Given the description of an element on the screen output the (x, y) to click on. 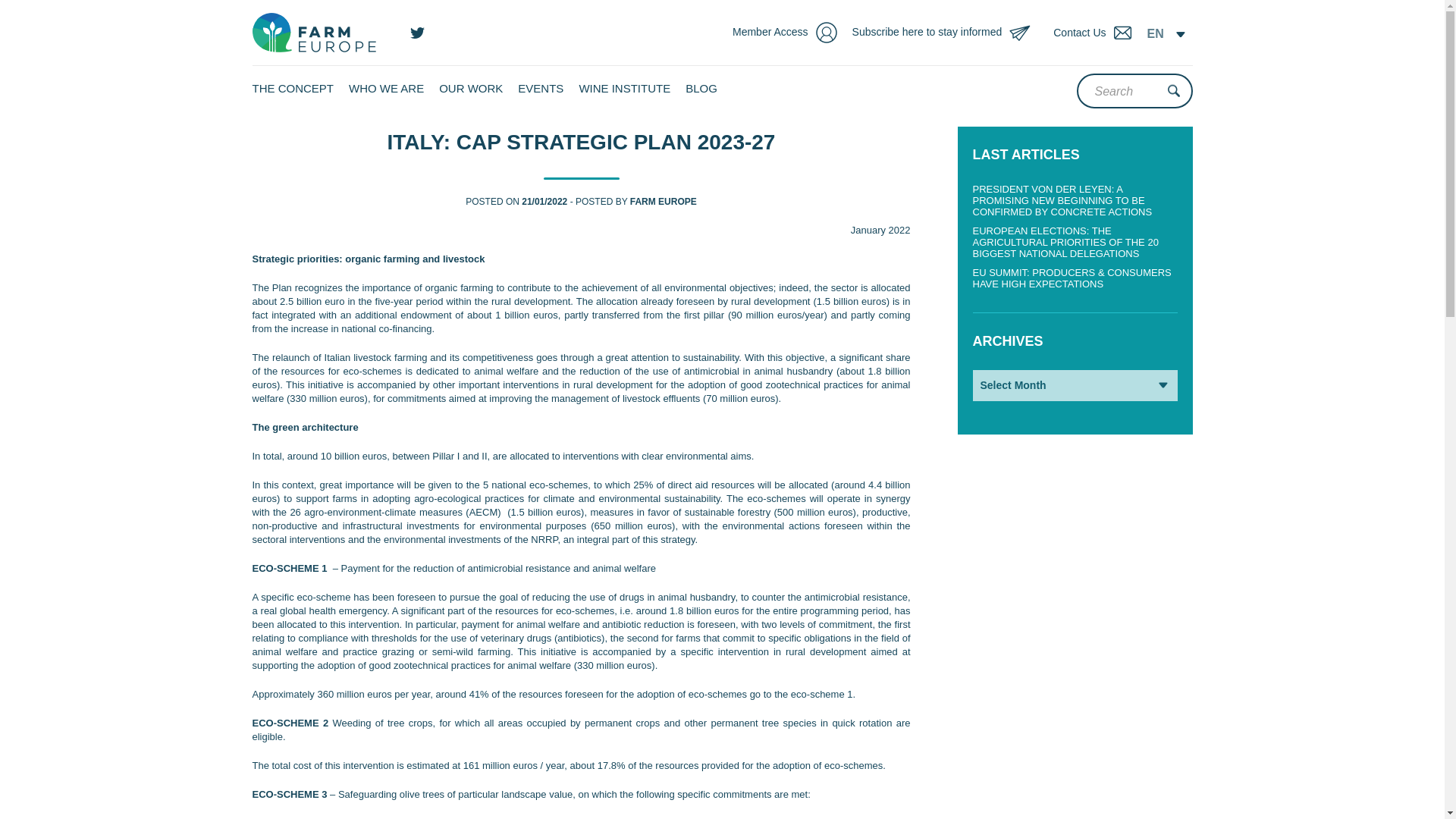
Contact Us (1096, 32)
OUR WORK (470, 88)
Subscribe here to stay informed (948, 32)
WHO WE ARE (386, 88)
FARM EUROPE (663, 201)
Member Access (791, 32)
EVENTS (540, 88)
WINE INSTITUTE (623, 88)
THE CONCEPT (292, 88)
